Given the description of an element on the screen output the (x, y) to click on. 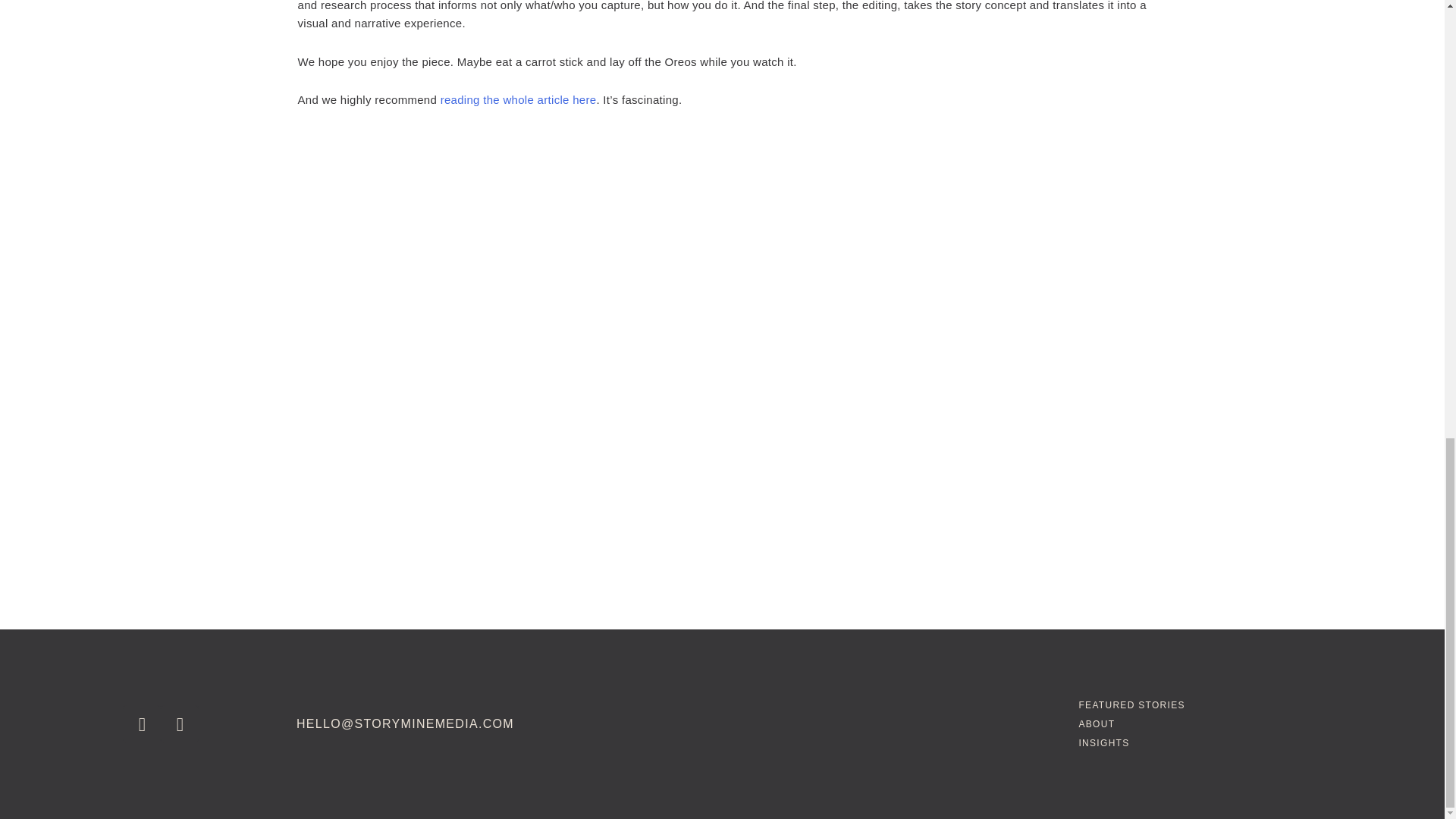
ABOUT (1096, 724)
INSIGHTS (1103, 742)
FEATURED STORIES (1131, 705)
reading the whole article here (518, 99)
